Given the description of an element on the screen output the (x, y) to click on. 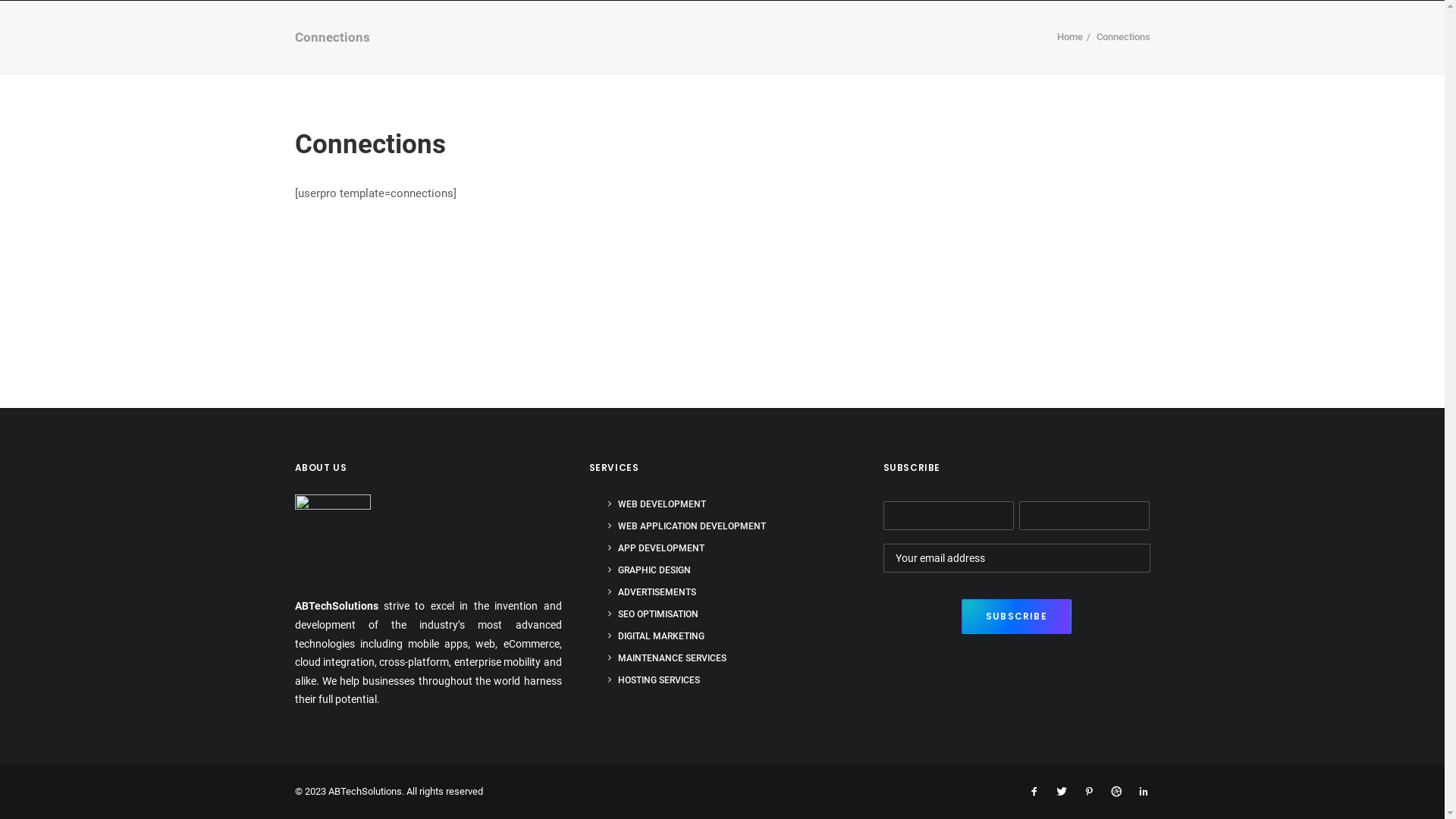
ADVERTISEMENTS Element type: text (652, 593)
HOSTING SERVICES Element type: text (653, 681)
MAINTENANCE SERVICES Element type: text (667, 659)
SEO OPTIMISATION Element type: text (653, 615)
APP DEVELOPMENT Element type: text (656, 549)
WEB APPLICATION DEVELOPMENT Element type: text (686, 527)
DIGITAL MARKETING Element type: text (656, 637)
WEB DEVELOPMENT Element type: text (657, 505)
GRAPHIC DESIGN Element type: text (649, 571)
Home Element type: text (1069, 36)
Subscribe Element type: text (1016, 616)
